Given the description of an element on the screen output the (x, y) to click on. 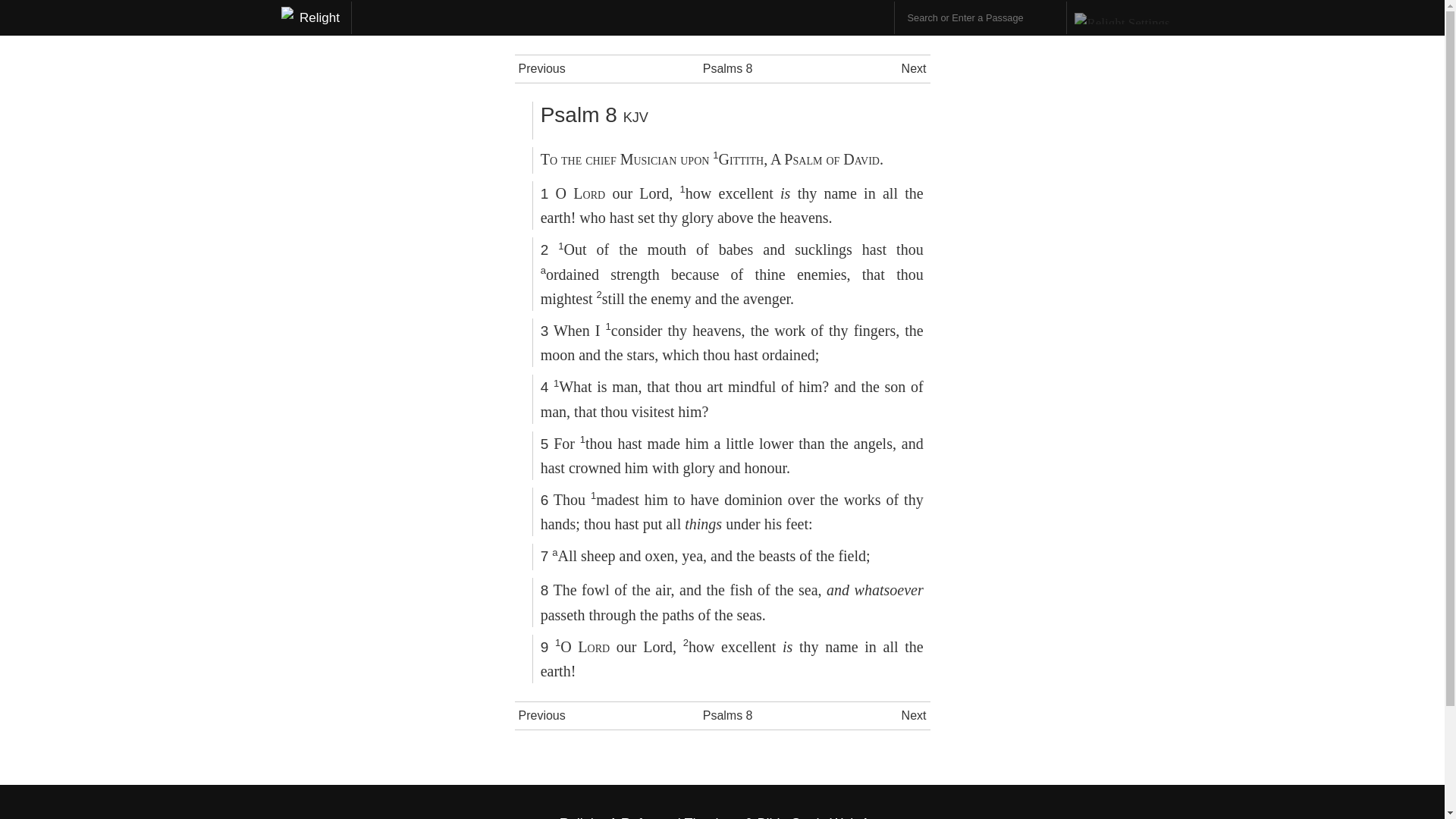
Previous (542, 68)
Next (913, 68)
Next (913, 715)
Previous (542, 715)
Relight (315, 17)
